Given the description of an element on the screen output the (x, y) to click on. 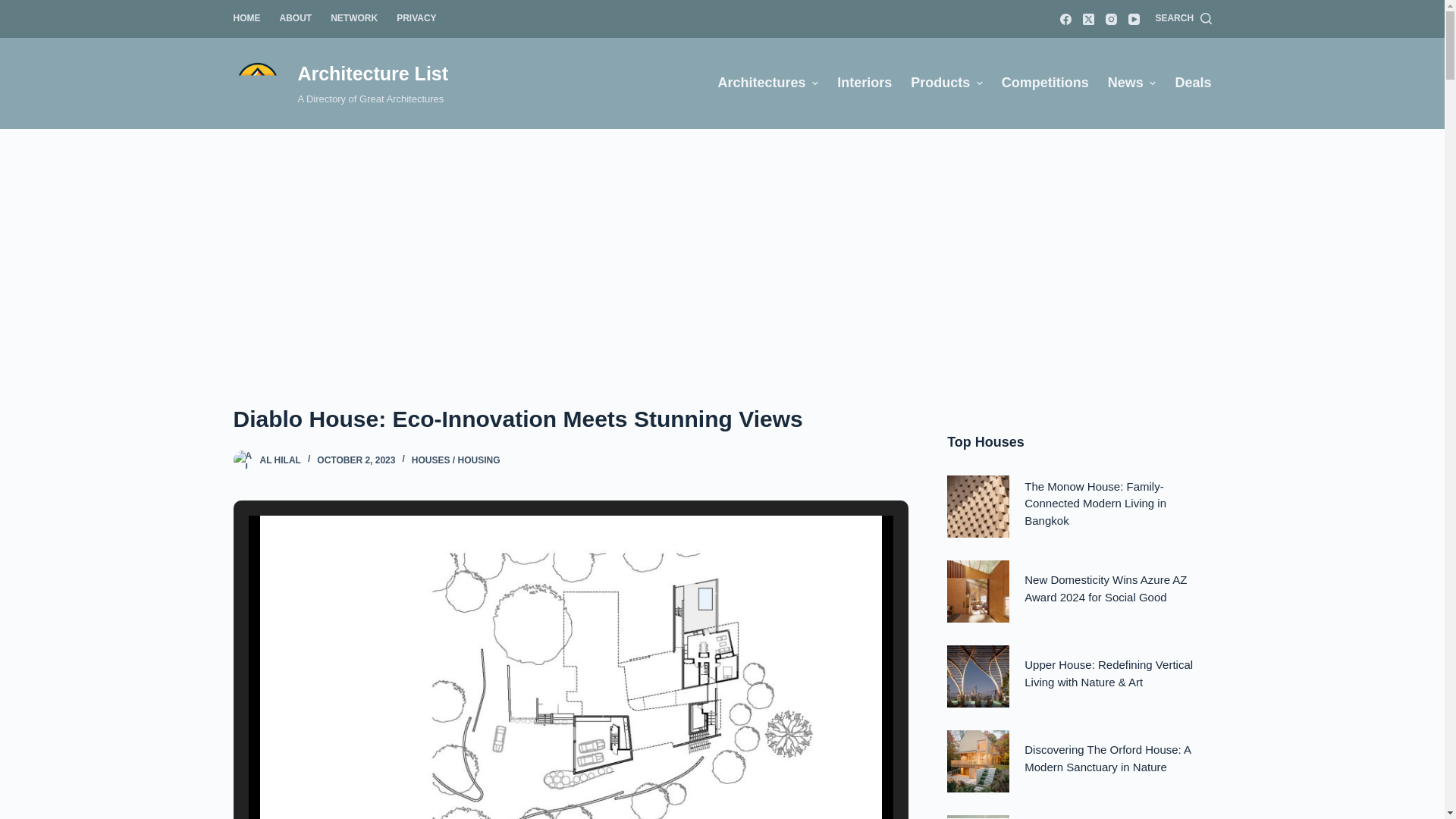
Diablo House: Eco-Innovation Meets Stunning Views (570, 418)
Skip to content (15, 7)
Posts by Al Hilal (279, 460)
